Given the description of an element on the screen output the (x, y) to click on. 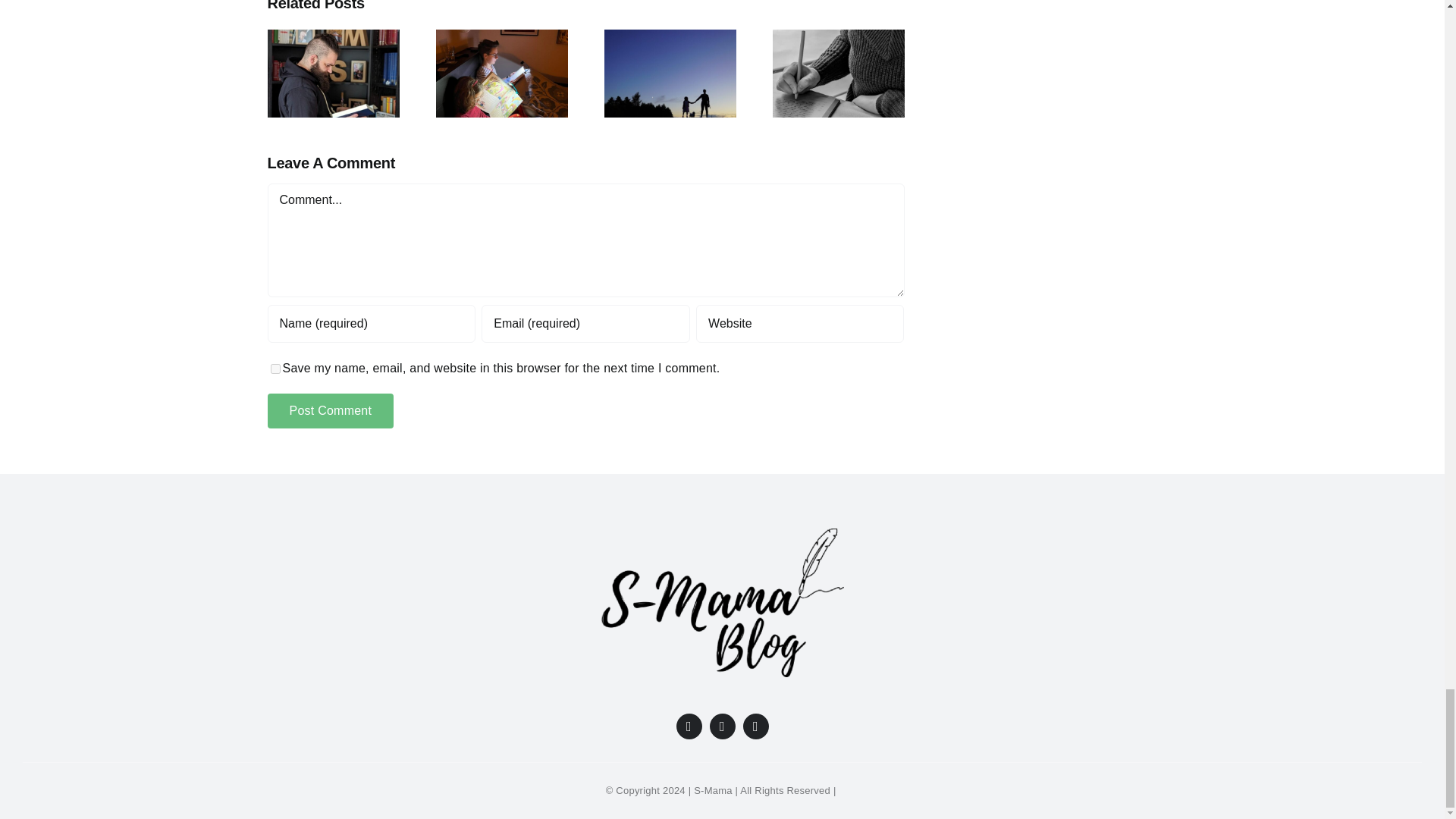
Post Comment (329, 410)
yes (274, 368)
